Given the description of an element on the screen output the (x, y) to click on. 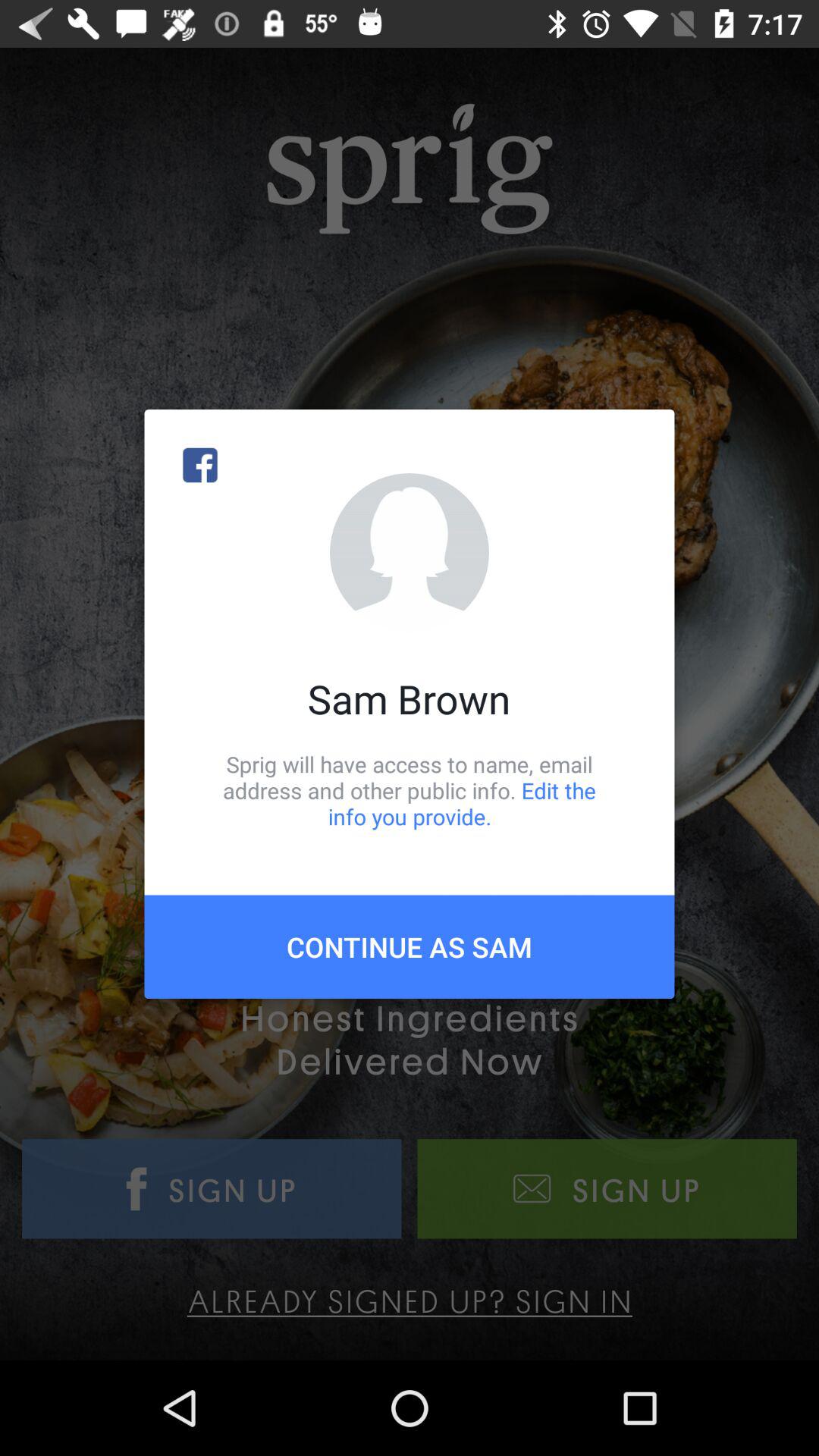
choose sprig will have item (409, 790)
